Given the description of an element on the screen output the (x, y) to click on. 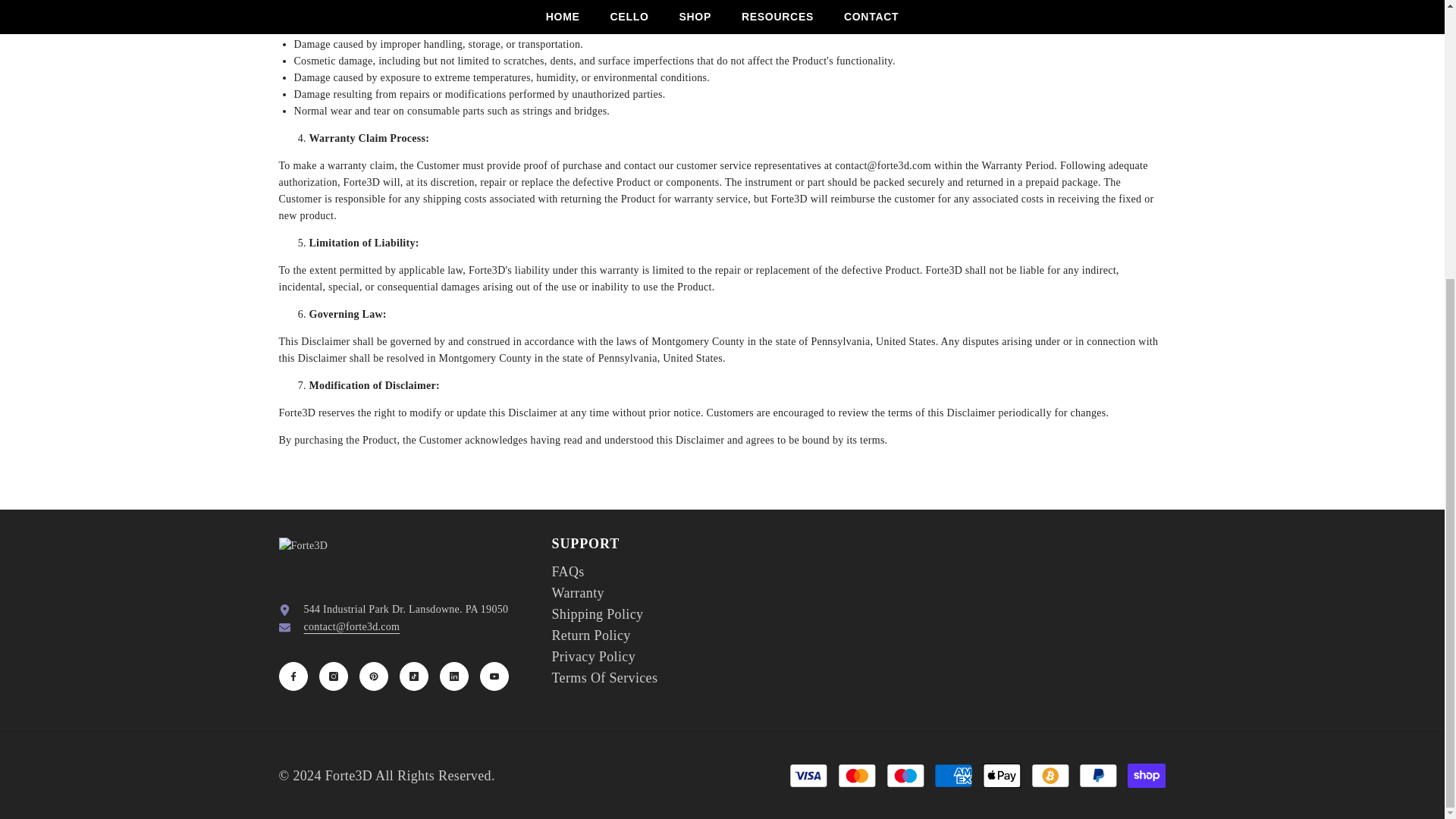
TikTok (413, 676)
Shipping Policy (597, 613)
PayPal (1098, 775)
Apple Pay (1001, 775)
Shop Pay (1146, 775)
YouTube (493, 676)
Facebook (293, 676)
Terms Of Services (604, 677)
Mastercard (857, 775)
Bitcoin (1050, 775)
Pinterest (373, 676)
Instagram (332, 676)
Maestro (905, 775)
Return Policy (590, 635)
Visa (808, 775)
